Given the description of an element on the screen output the (x, y) to click on. 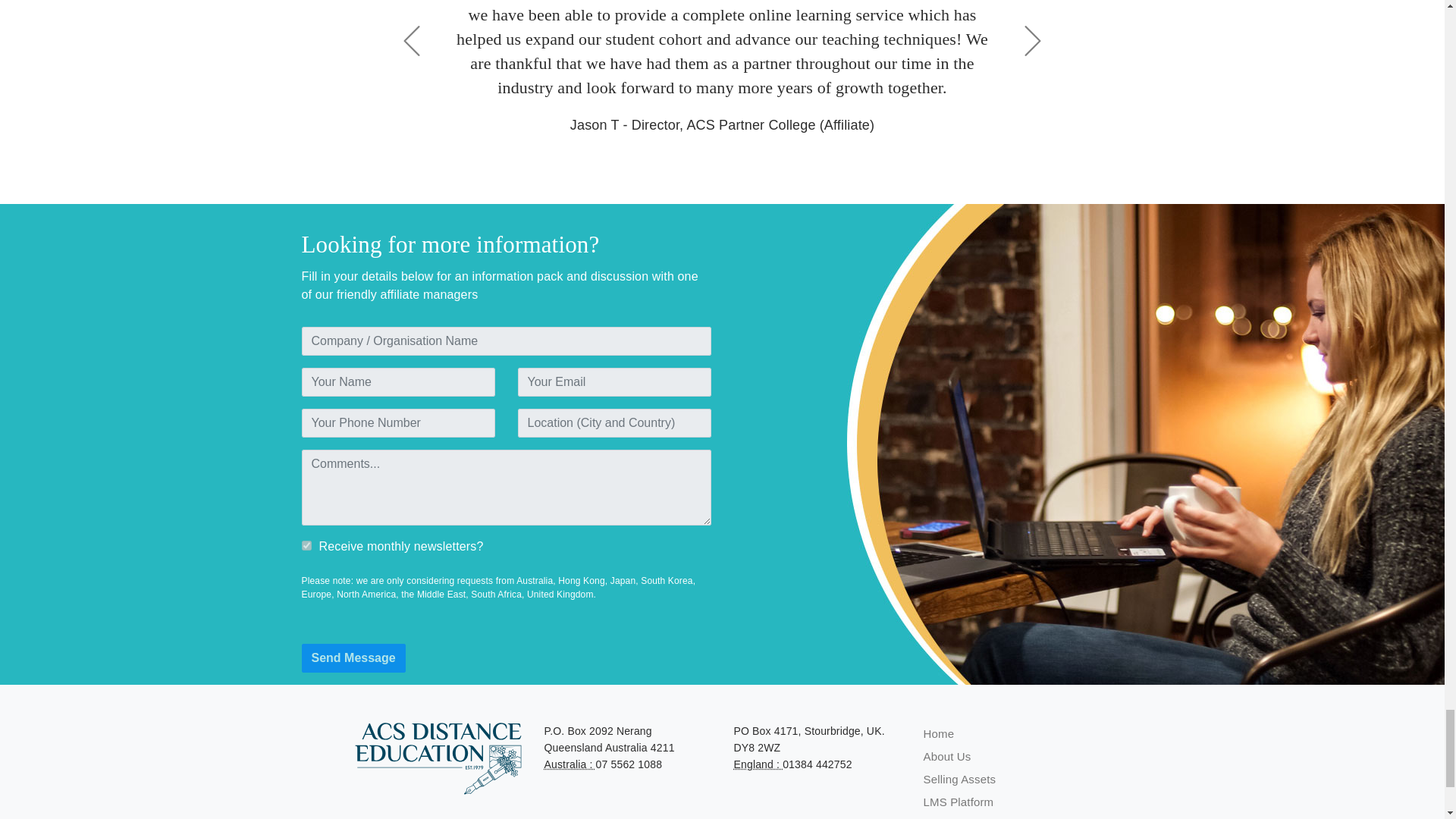
About Us (947, 756)
Selling Assets (959, 779)
Home (939, 733)
Send Message (353, 657)
LMS Platform (958, 801)
Phone (758, 764)
on (306, 545)
Phone (569, 764)
Send Message (353, 657)
